Given the description of an element on the screen output the (x, y) to click on. 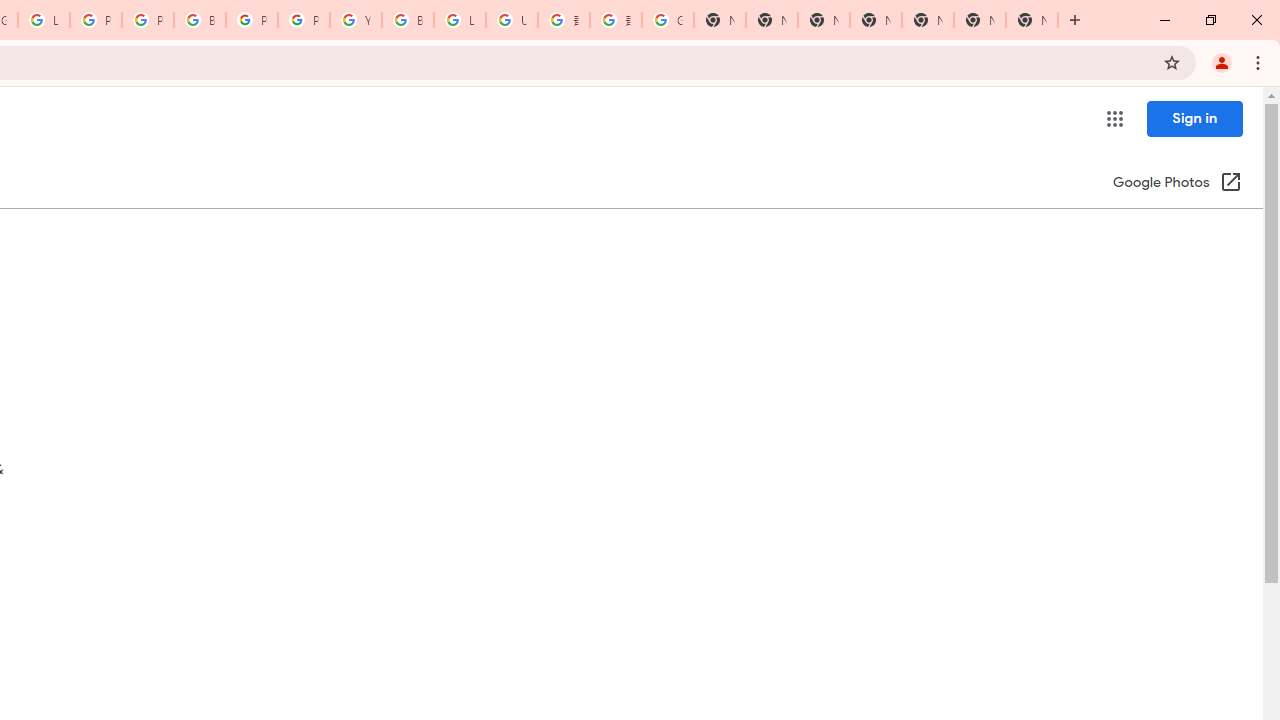
Privacy Help Center - Policies Help (147, 20)
Privacy Help Center - Policies Help (95, 20)
New Tab (1032, 20)
YouTube (355, 20)
Google Images (667, 20)
